Given the description of an element on the screen output the (x, y) to click on. 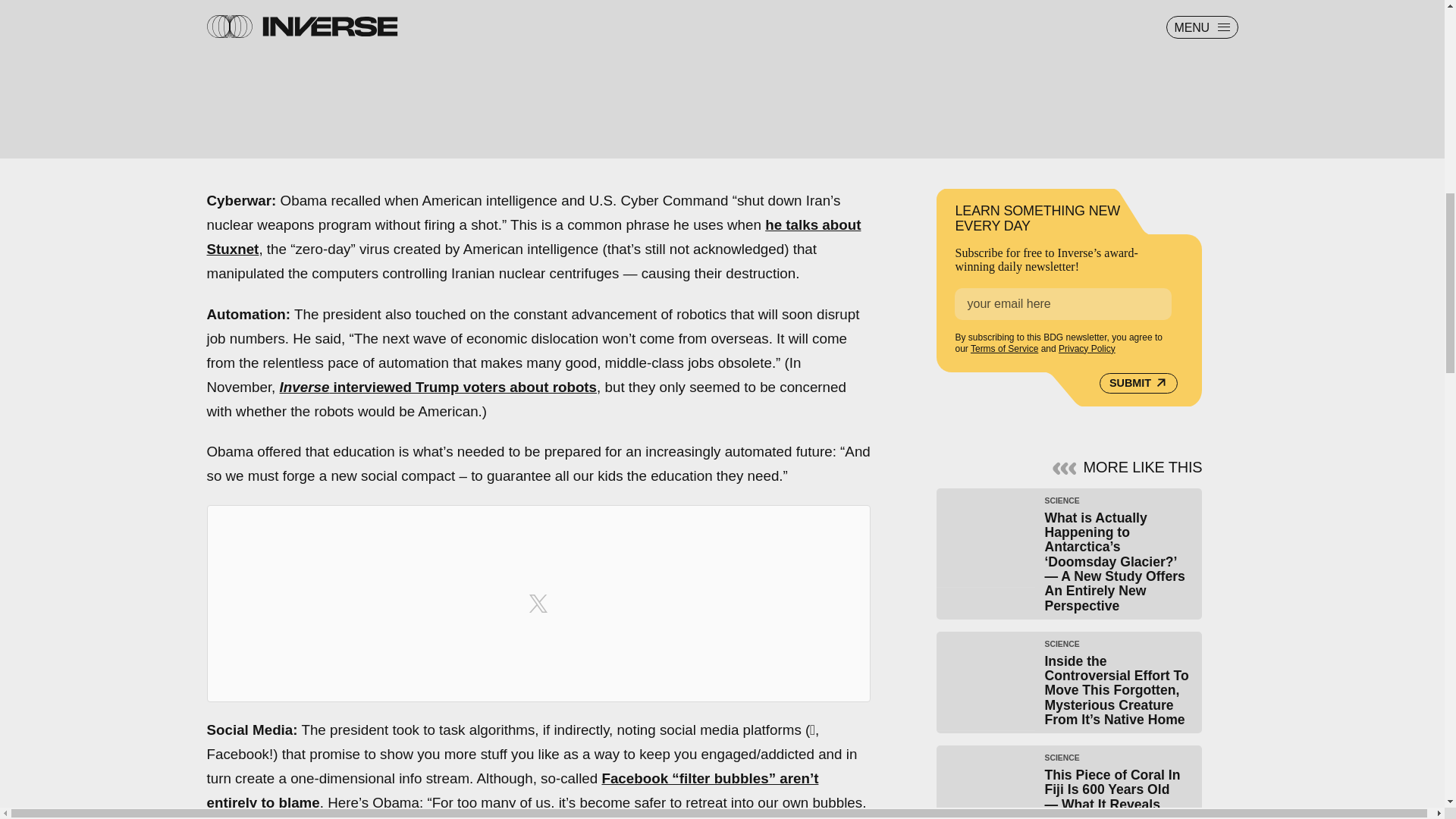
he talks about Stuxnet (533, 237)
Inverse interviewed Trump voters about robots (437, 386)
SUBMIT (1138, 383)
Privacy Policy (1086, 348)
Terms of Service (1004, 348)
